Given the description of an element on the screen output the (x, y) to click on. 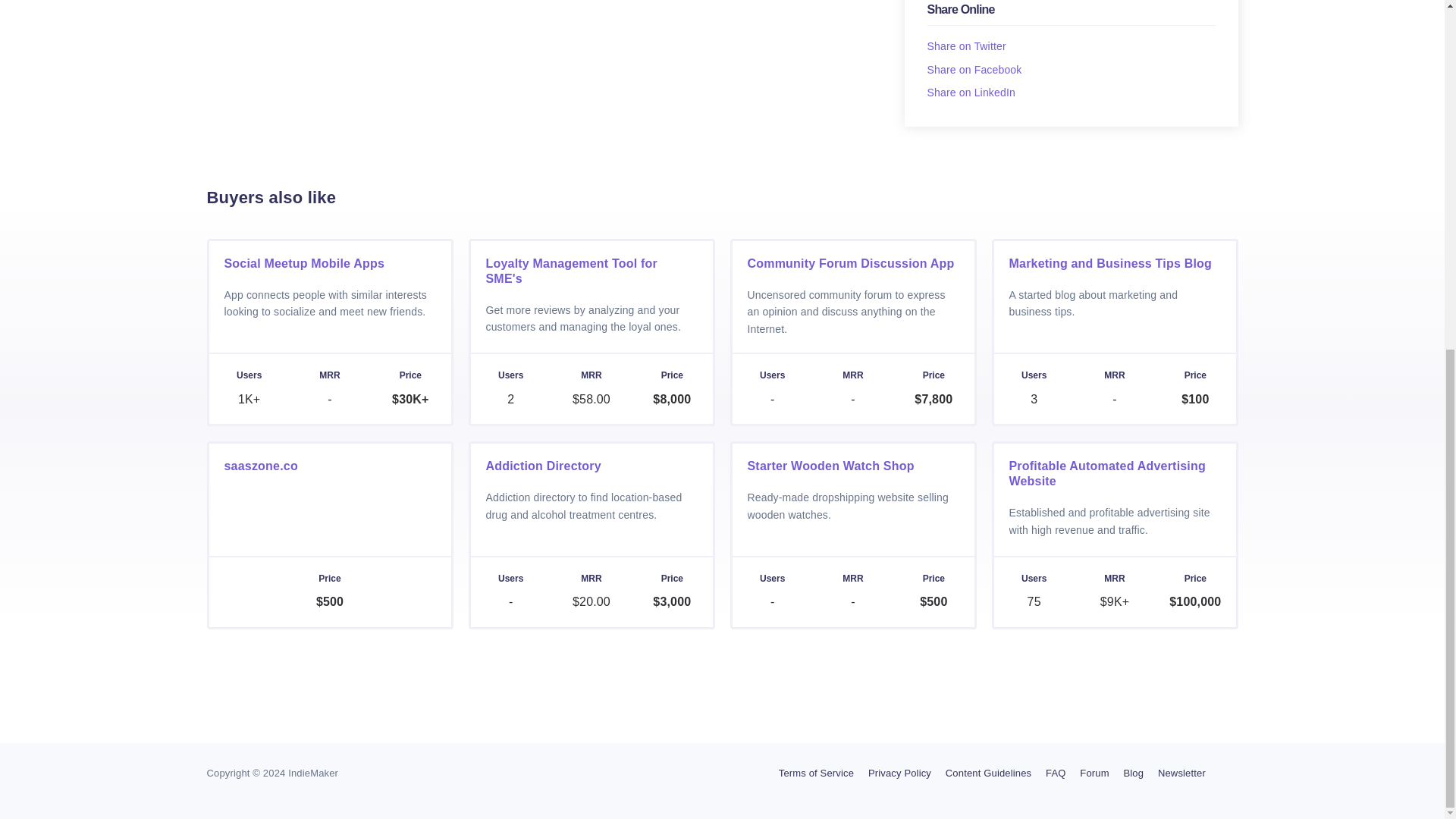
Privacy Policy (899, 773)
FAQ (1055, 773)
Newsletter (1181, 773)
Share khoobs.com on LinkedIn (970, 92)
Content Guidelines (987, 773)
Share khoobs.com on Facebook (974, 69)
Share on LinkedIn (970, 92)
saaszone.co -  (329, 535)
Share on Twitter (966, 46)
